Given the description of an element on the screen output the (x, y) to click on. 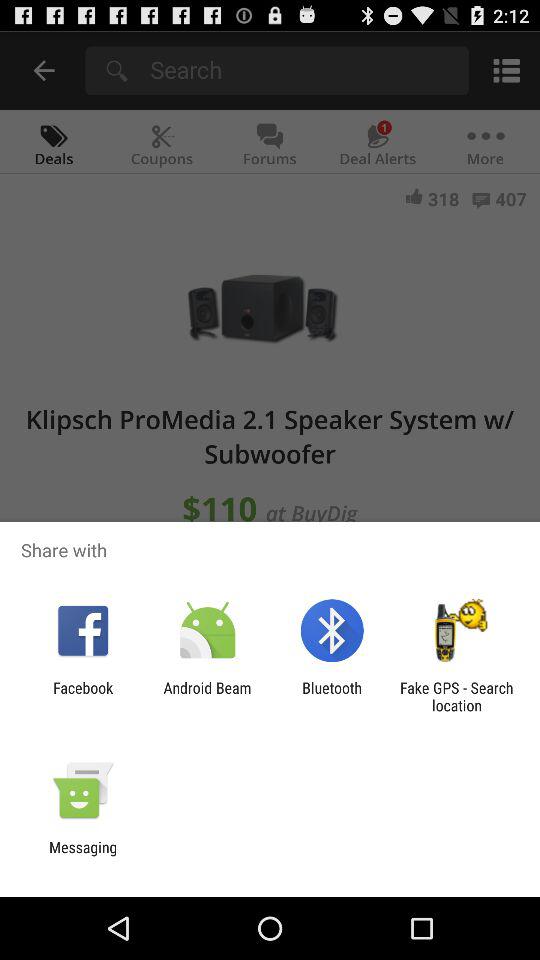
launch item next to bluetooth item (207, 696)
